Given the description of an element on the screen output the (x, y) to click on. 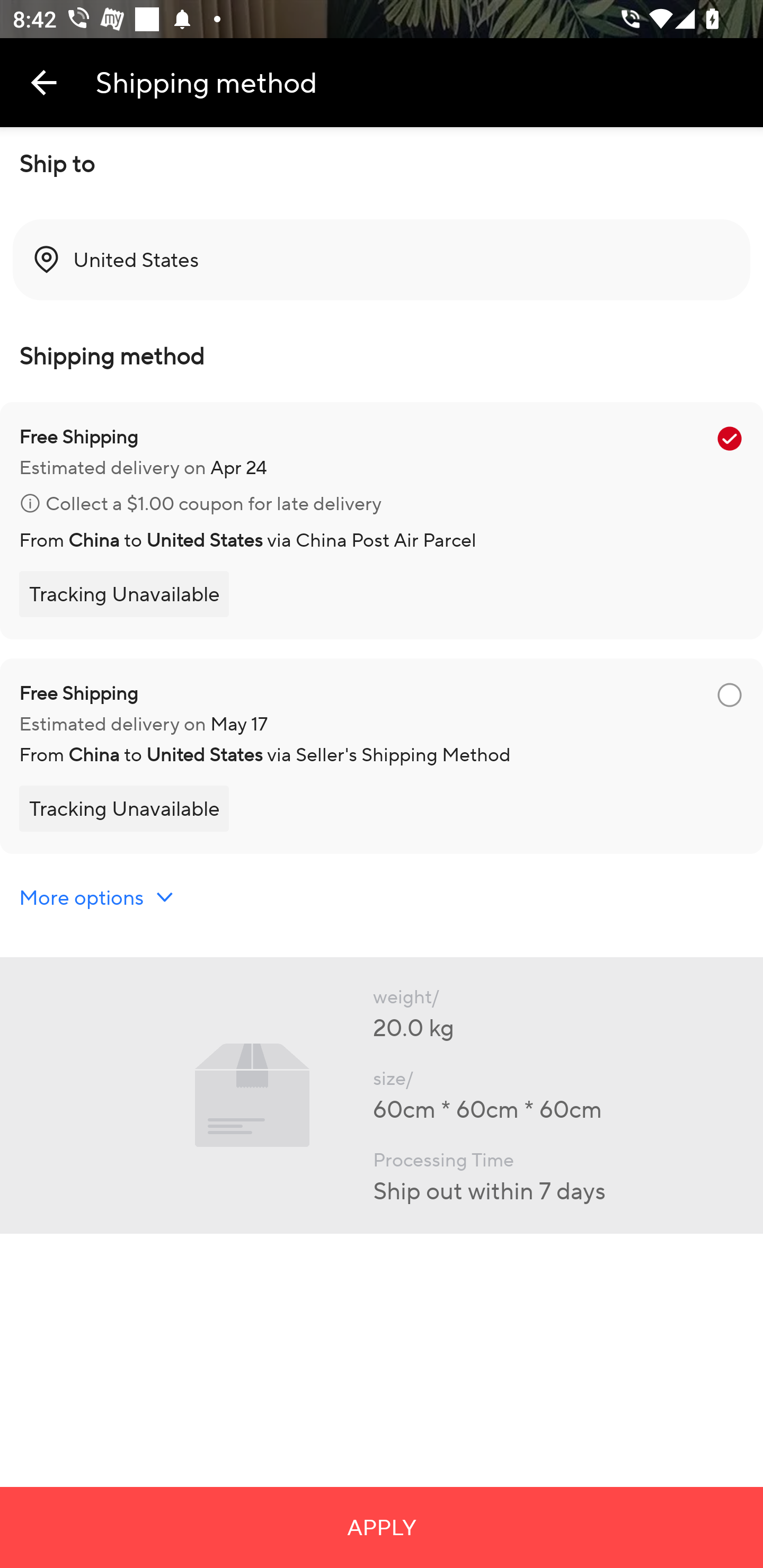
 United States (381, 260)
More options  (97, 897)
APPLY (381, 1527)
